Given the description of an element on the screen output the (x, y) to click on. 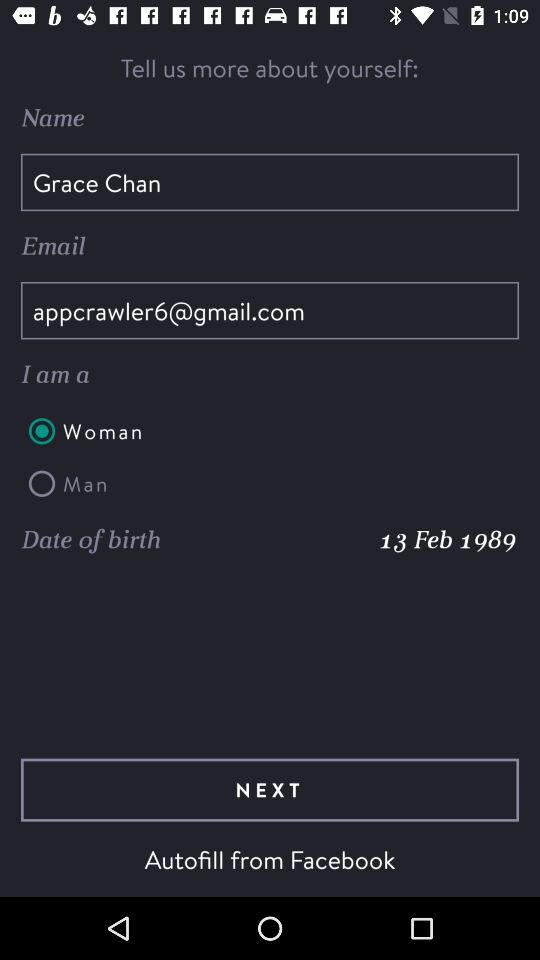
launch icon above email item (269, 182)
